Given the description of an element on the screen output the (x, y) to click on. 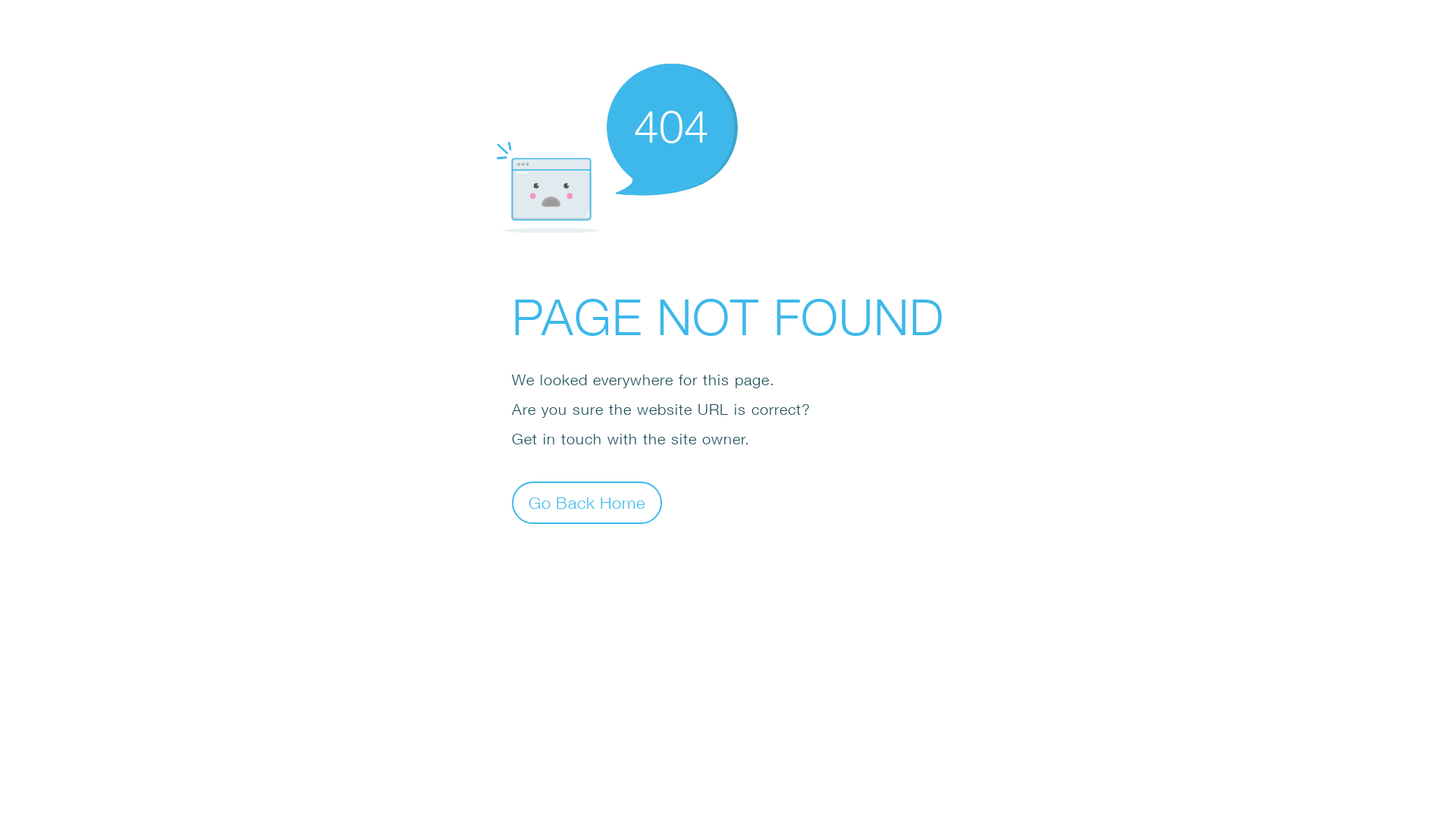
Go Back Home Element type: text (586, 502)
